Given the description of an element on the screen output the (x, y) to click on. 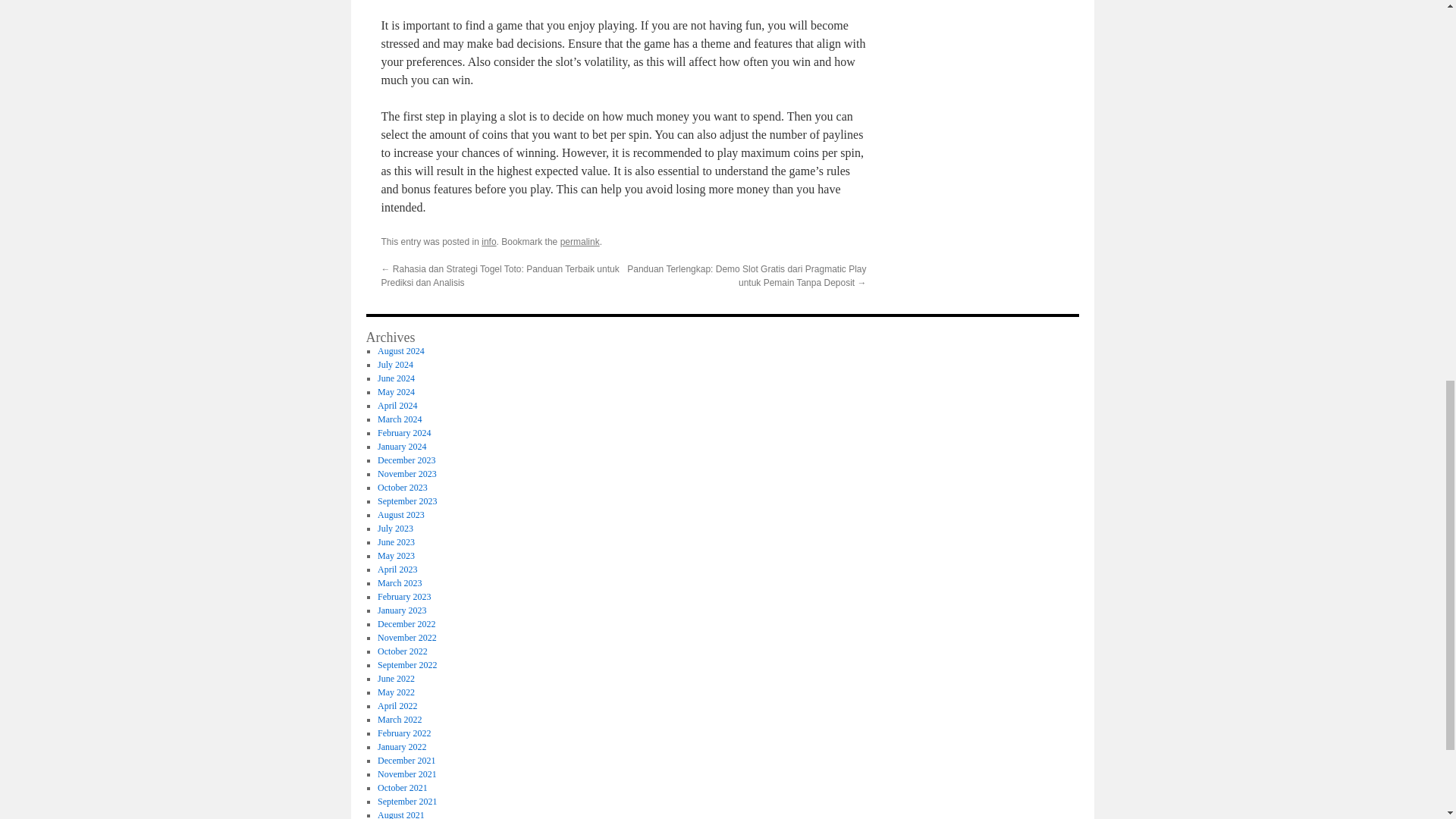
May 2024 (395, 391)
February 2023 (403, 596)
permalink (579, 241)
August 2024 (401, 350)
January 2023 (401, 610)
December 2023 (406, 460)
October 2022 (402, 651)
October 2023 (402, 487)
June 2023 (395, 542)
July 2024 (395, 364)
